Given the description of an element on the screen output the (x, y) to click on. 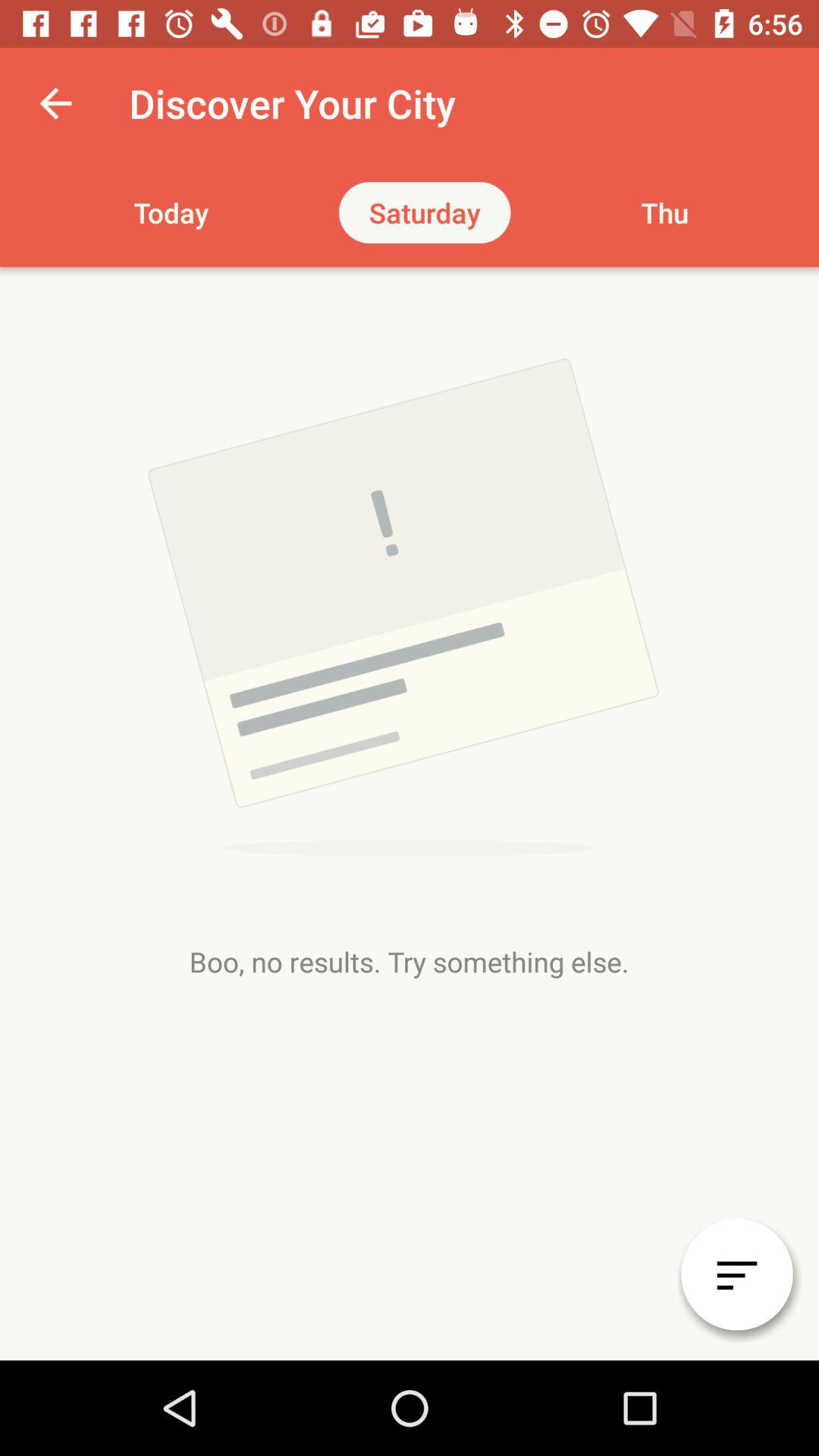
go to options (737, 1274)
